Given the description of an element on the screen output the (x, y) to click on. 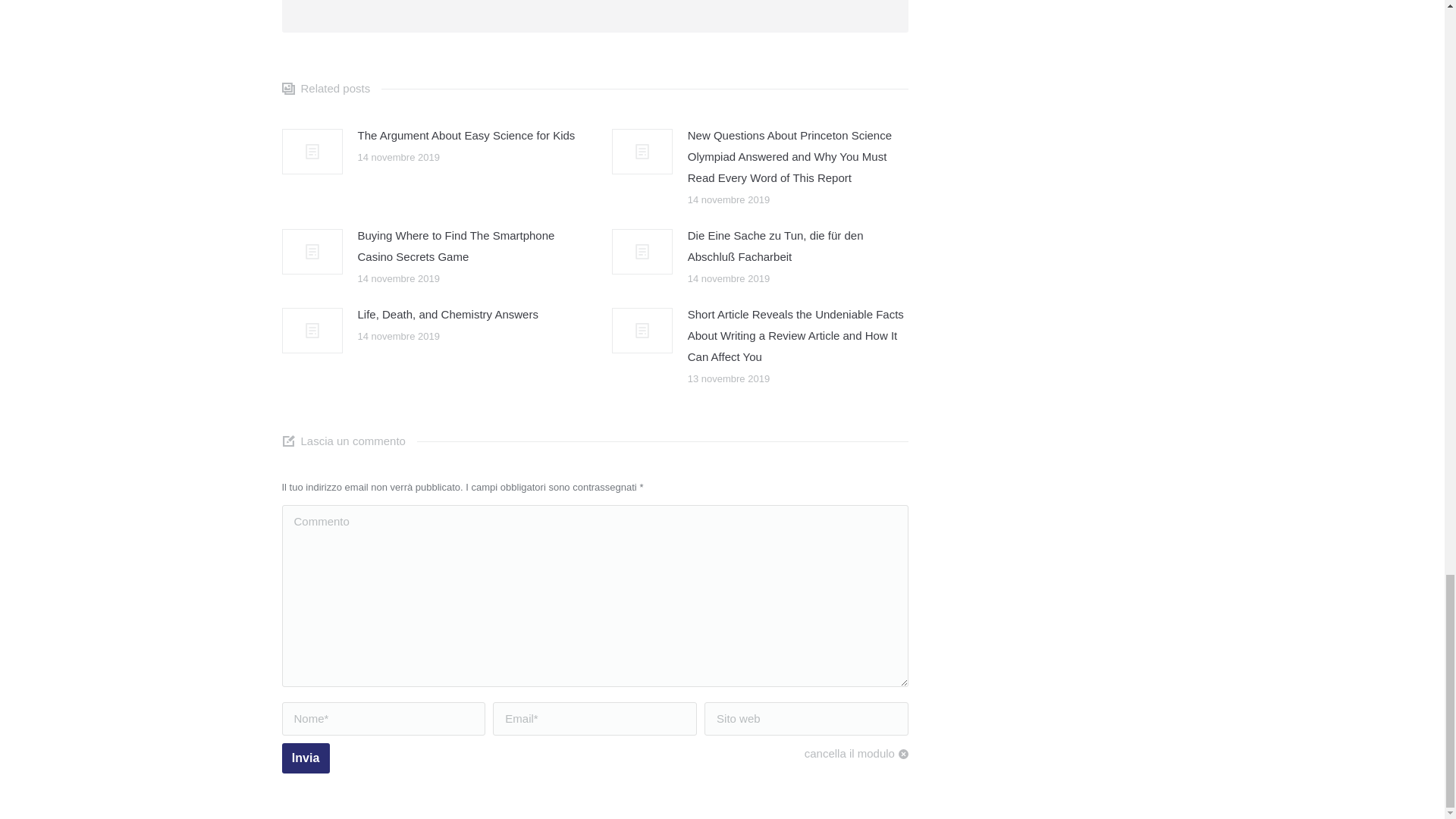
The Argument About Easy Science for Kids (466, 135)
